Given the description of an element on the screen output the (x, y) to click on. 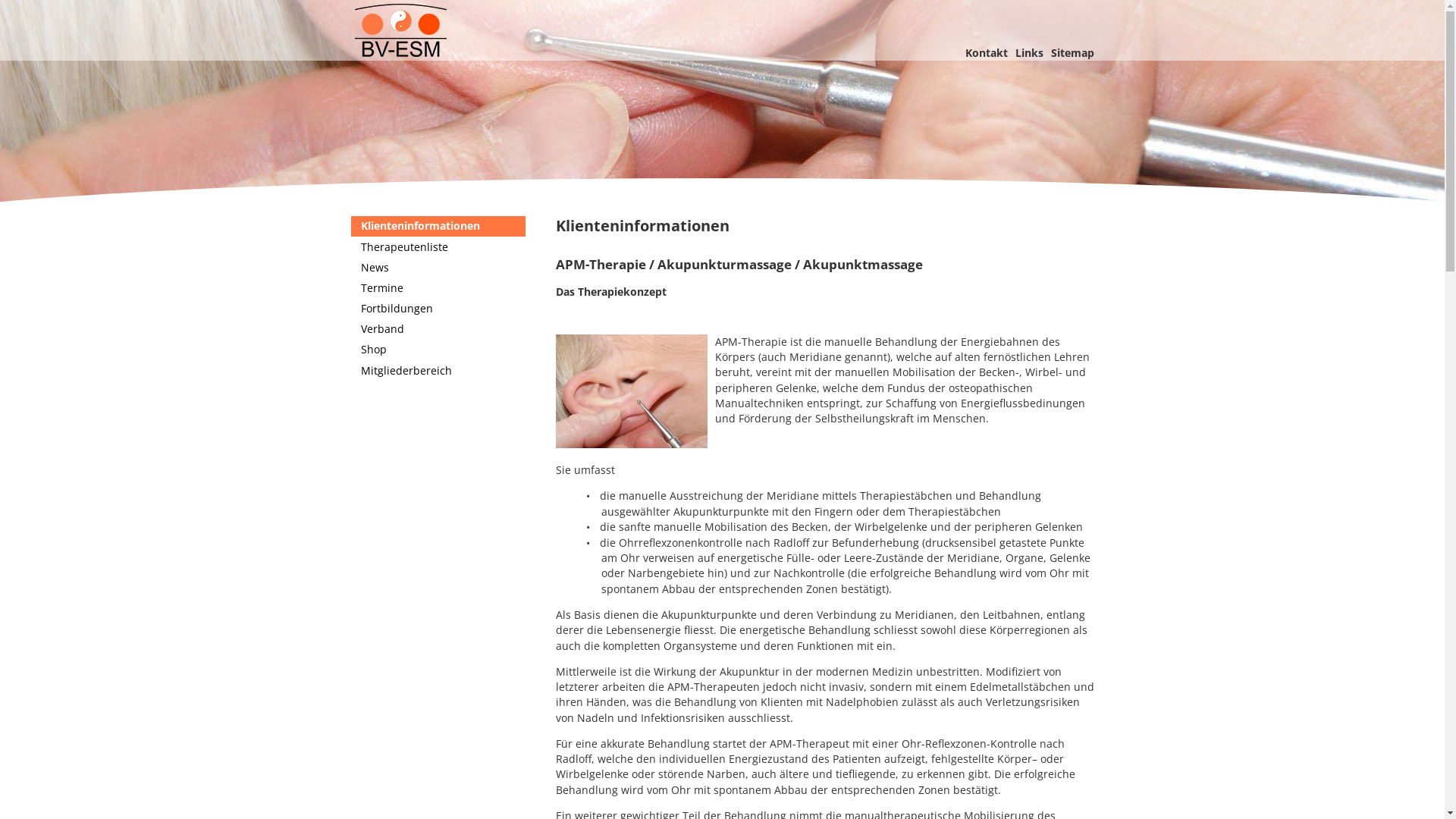
Links Element type: text (1028, 52)
Fortbildungen Element type: text (437, 308)
Sitemap Element type: text (1072, 52)
Shop Element type: text (437, 349)
Klienteninformationen Element type: text (437, 226)
Termine Element type: text (437, 288)
Kontakt Element type: text (985, 52)
Therapeutenliste Element type: text (437, 246)
Mitgliederbereich Element type: text (437, 370)
APM-Therapie Element type: hover (722, 108)
News Element type: text (437, 267)
Verband Element type: text (437, 329)
